Given the description of an element on the screen output the (x, y) to click on. 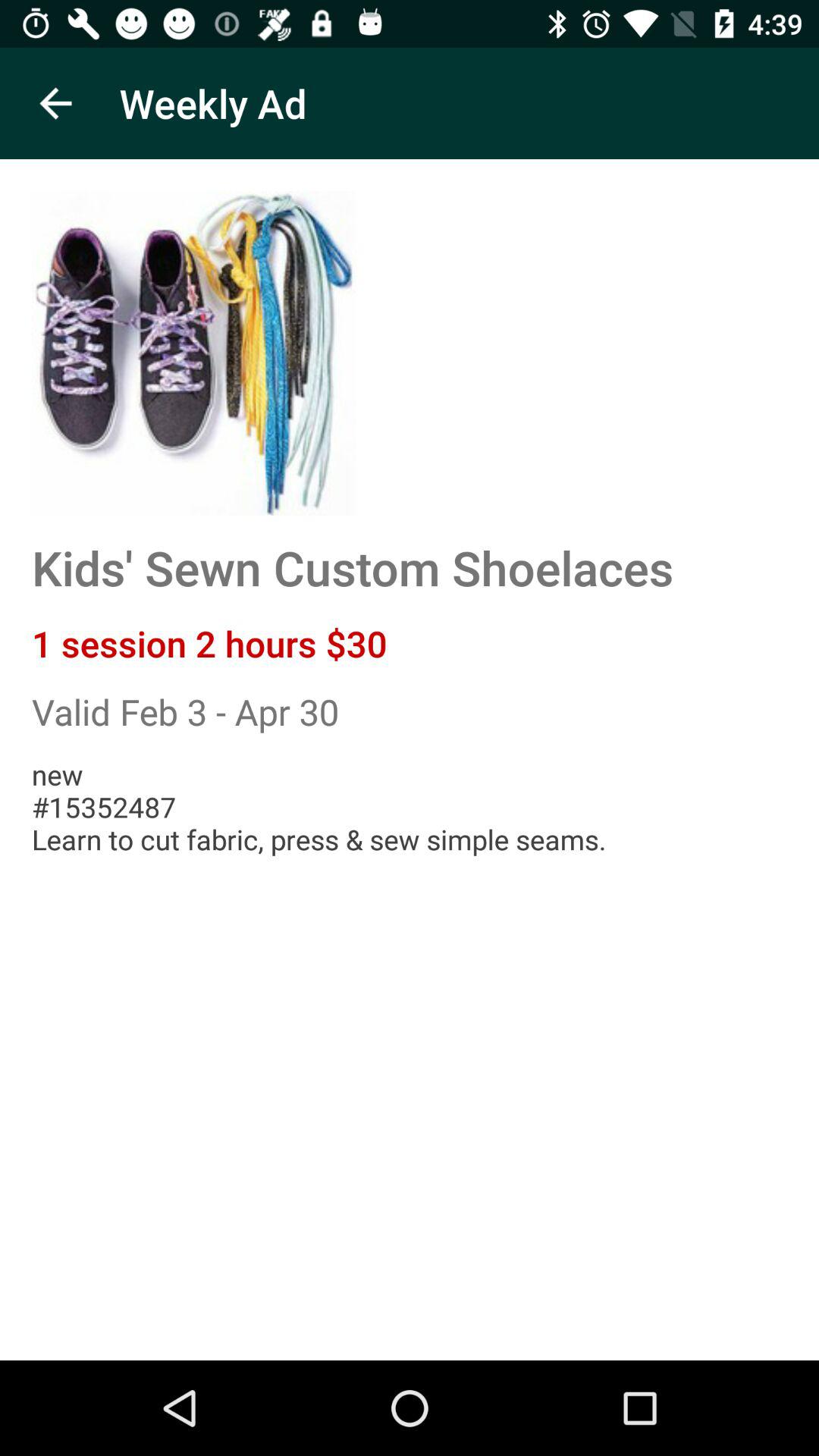
select app next to weekly ad (55, 103)
